Given the description of an element on the screen output the (x, y) to click on. 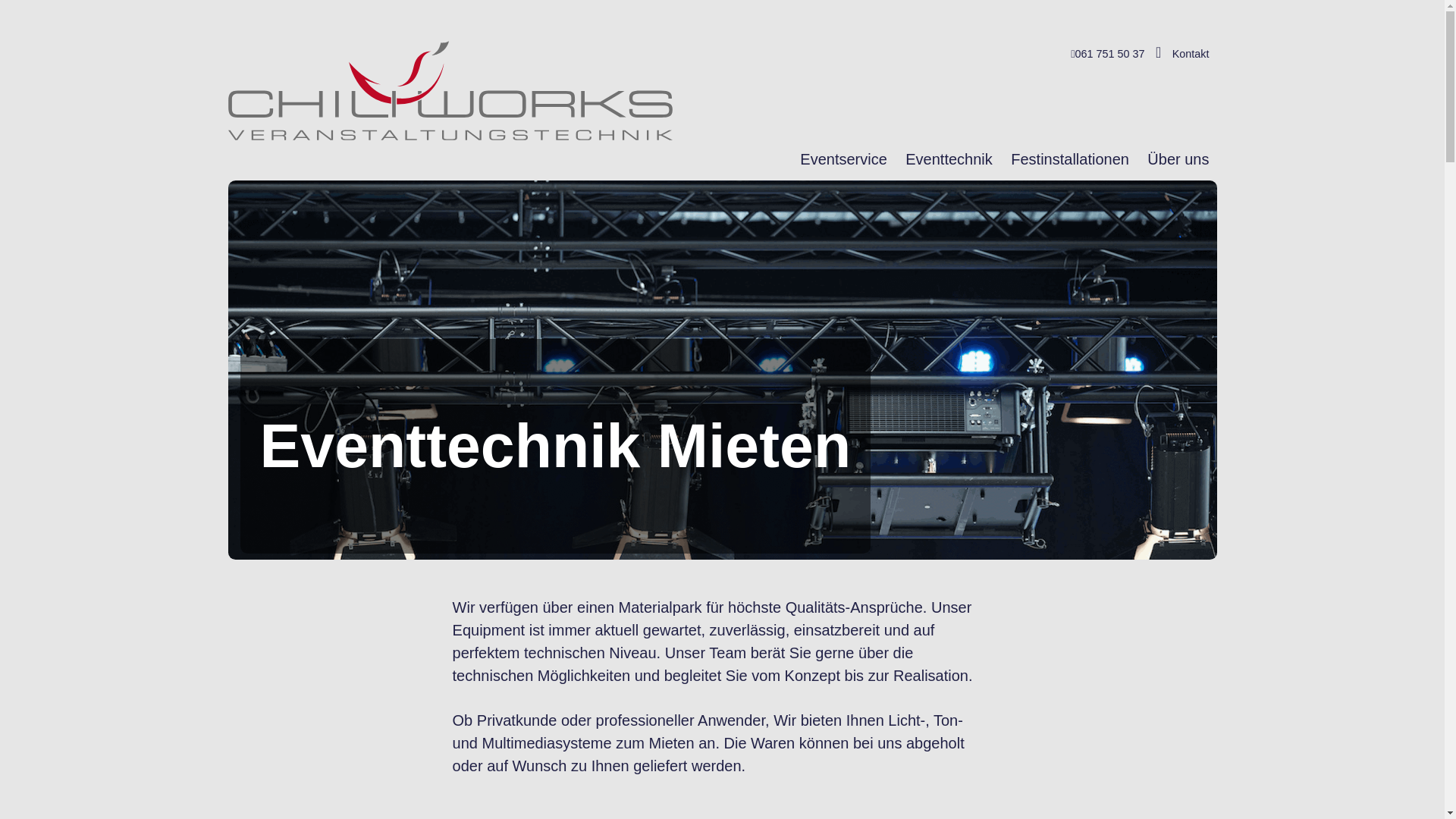
Eventservice Element type: text (843, 159)
Festinstallationen Element type: text (1069, 159)
Kontakt Element type: text (1190, 53)
Eventtechnik Element type: text (948, 159)
